Given the description of an element on the screen output the (x, y) to click on. 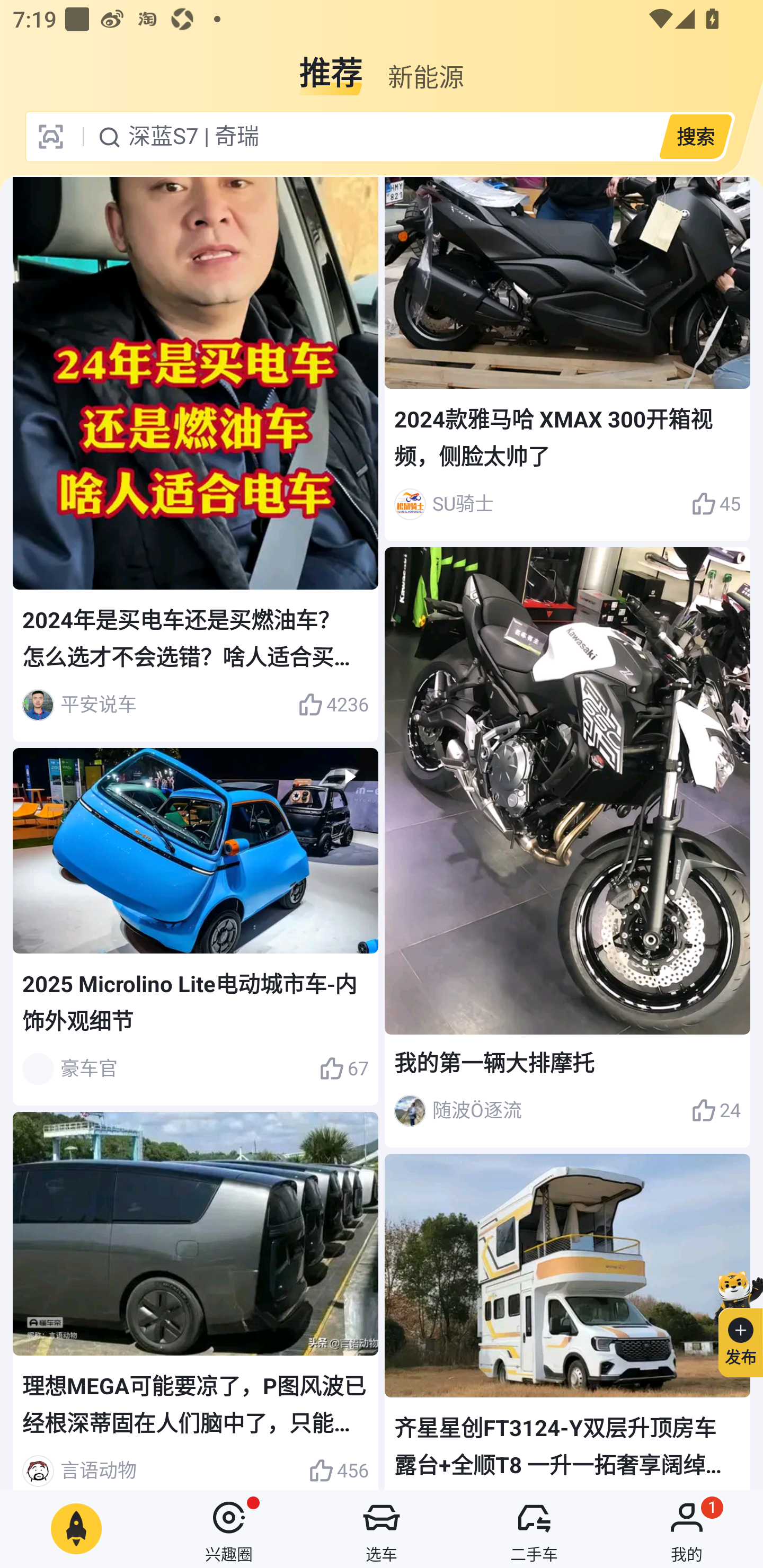
推荐 (330, 65)
新能源 (425, 65)
搜索 (695, 136)
 2024款雅马哈 XMAX 300开箱视频，侧脸太帅了 SU骑士 45 (567, 358)
45 (715, 503)
我的第一辆大排摩托 随波Ö逐流 24 (567, 847)
4236 (332, 704)
 2025 Microlino Lite电动城市车-内饰外观细节 豪车官 67 (195, 926)
67 (343, 1068)
24 (715, 1110)
齐星星创FT3124-Y双层升顶房车 露台+全顺T8 一升一拓奢享阔绰空间 (567, 1321)
发布 (732, 1321)
456 (338, 1468)
 兴趣圈 (228, 1528)
 选车 (381, 1528)
 二手车 (533, 1528)
 我的 (686, 1528)
